Given the description of an element on the screen output the (x, y) to click on. 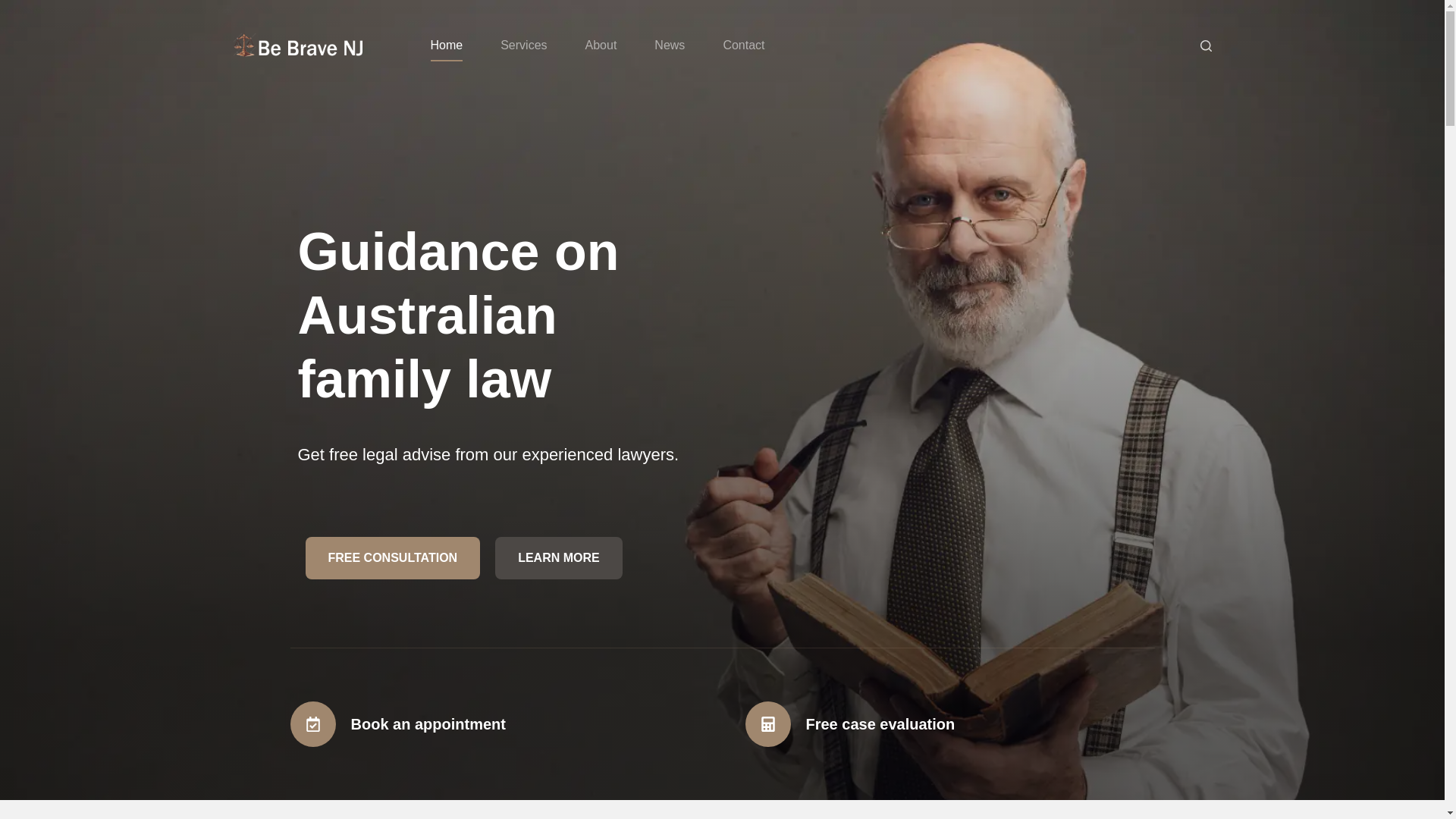
Free case evaluation (880, 723)
Home (445, 45)
LEARN MORE (559, 558)
About (601, 45)
News (668, 45)
Book an appointment (427, 723)
Contact (743, 45)
Skip to content (15, 7)
Services (523, 45)
FREE CONSULTATION (392, 558)
